Given the description of an element on the screen output the (x, y) to click on. 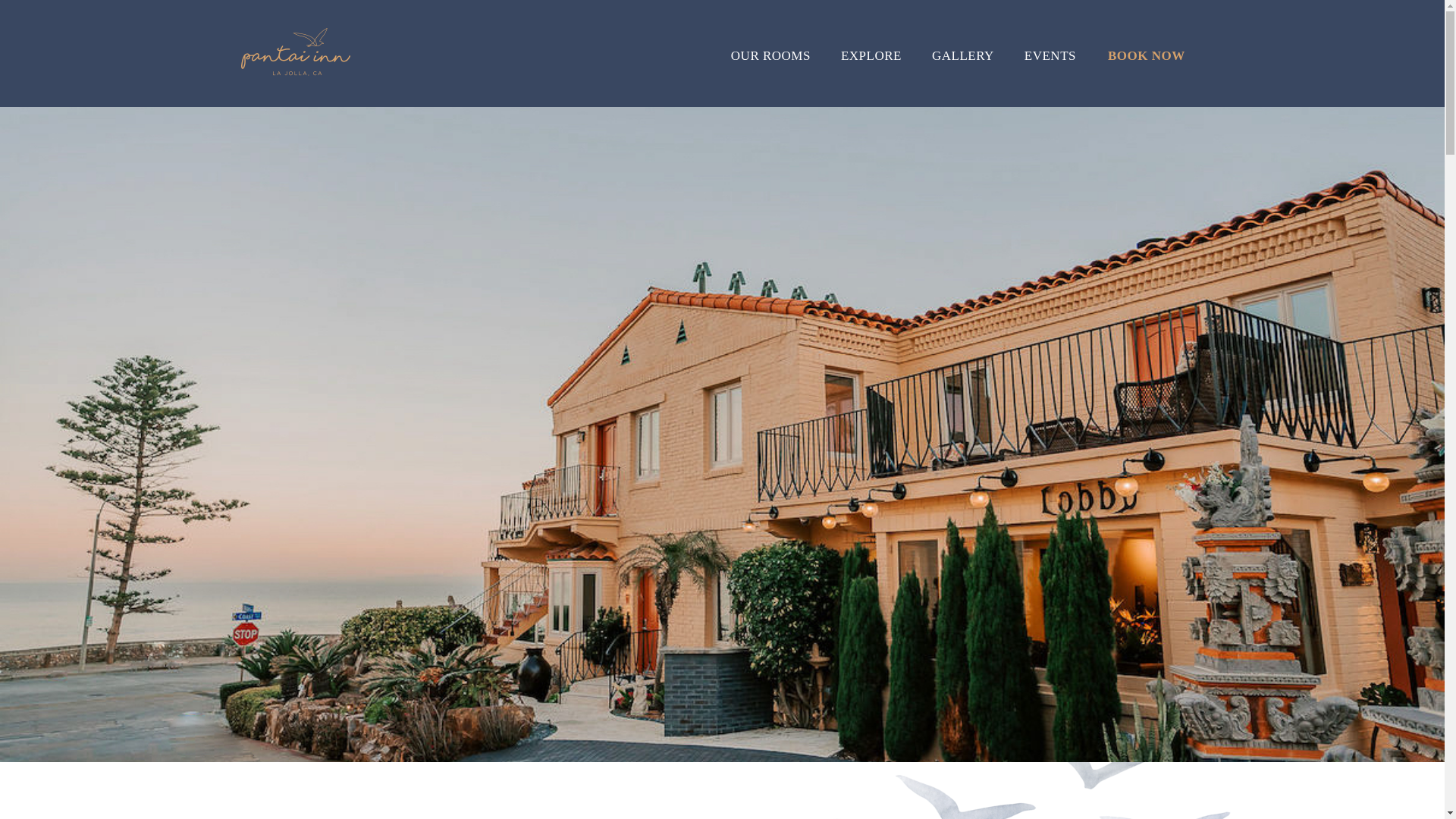
EVENTS (1051, 73)
BOOK NOW (1146, 73)
GALLERY (963, 73)
EXPLORE (871, 73)
OUR ROOMS (777, 73)
